Given the description of an element on the screen output the (x, y) to click on. 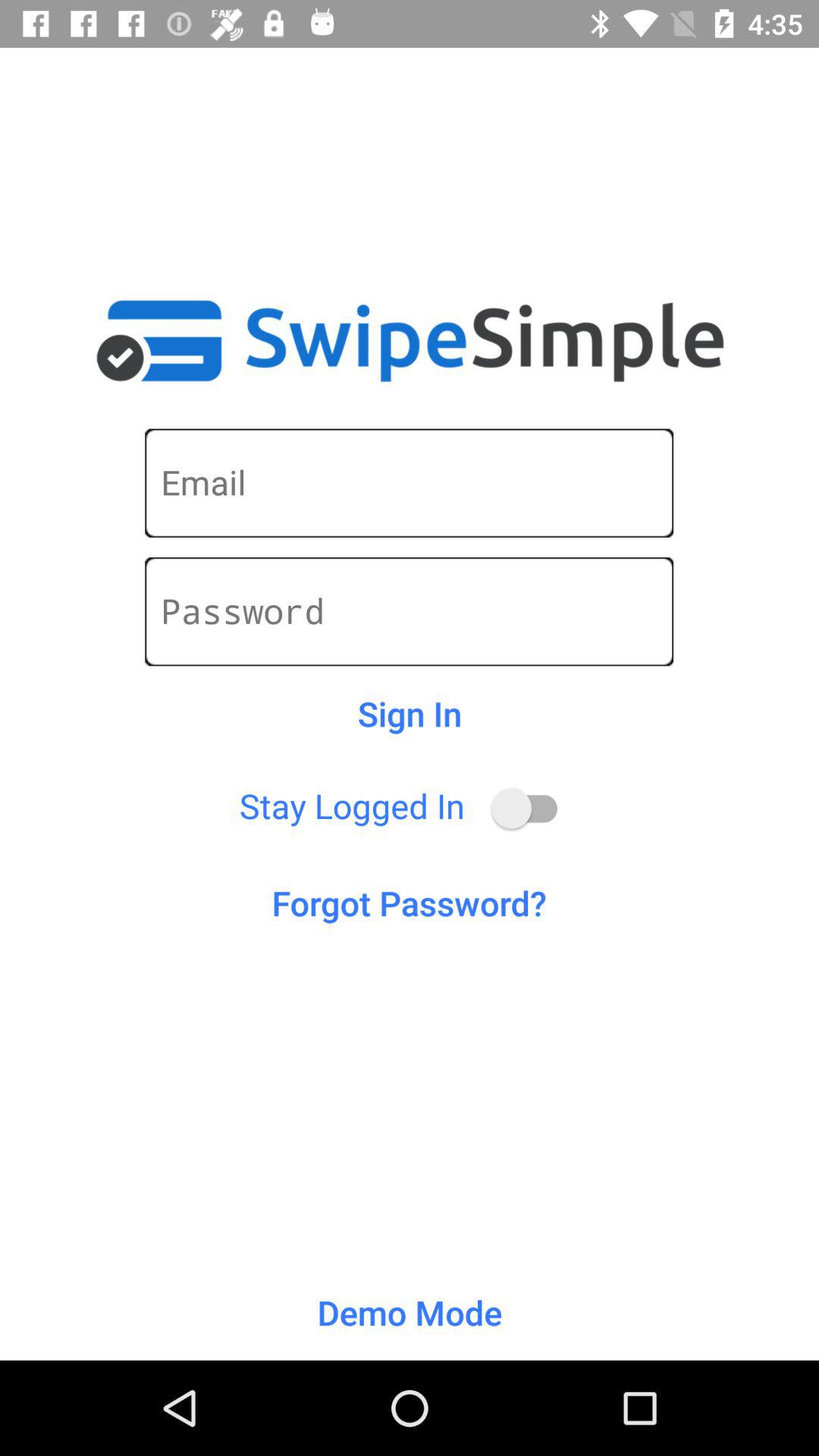
press item above sign in (409, 611)
